Given the description of an element on the screen output the (x, y) to click on. 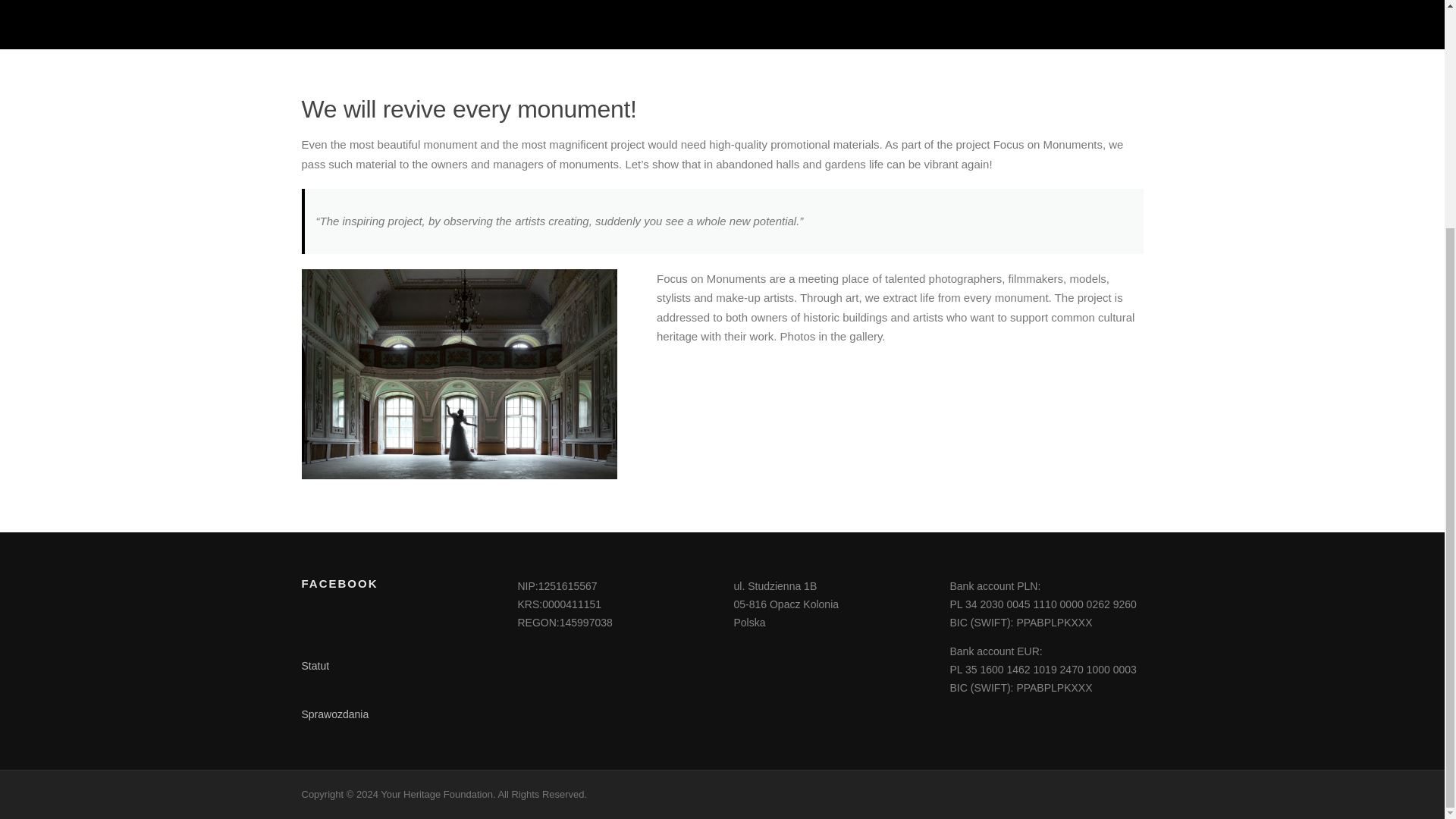
Sprawozdania (335, 714)
Statut (315, 665)
